Given the description of an element on the screen output the (x, y) to click on. 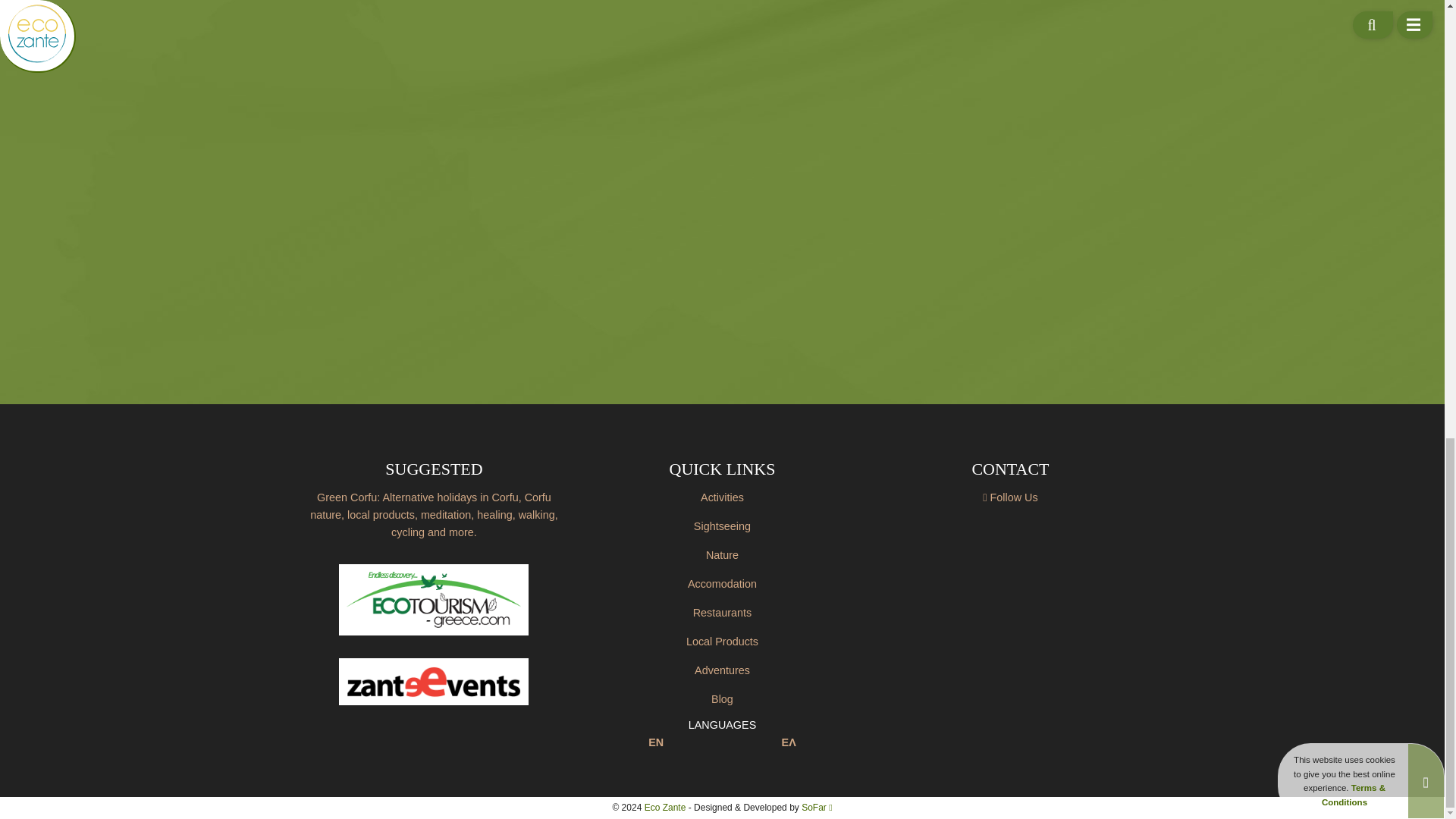
Activities (722, 497)
Green Corfu (434, 514)
Zante Events (433, 681)
Sightseeing (722, 526)
Accomodation (722, 583)
Nature (722, 555)
EcoTourism - Greece (433, 599)
